Given the description of an element on the screen output the (x, y) to click on. 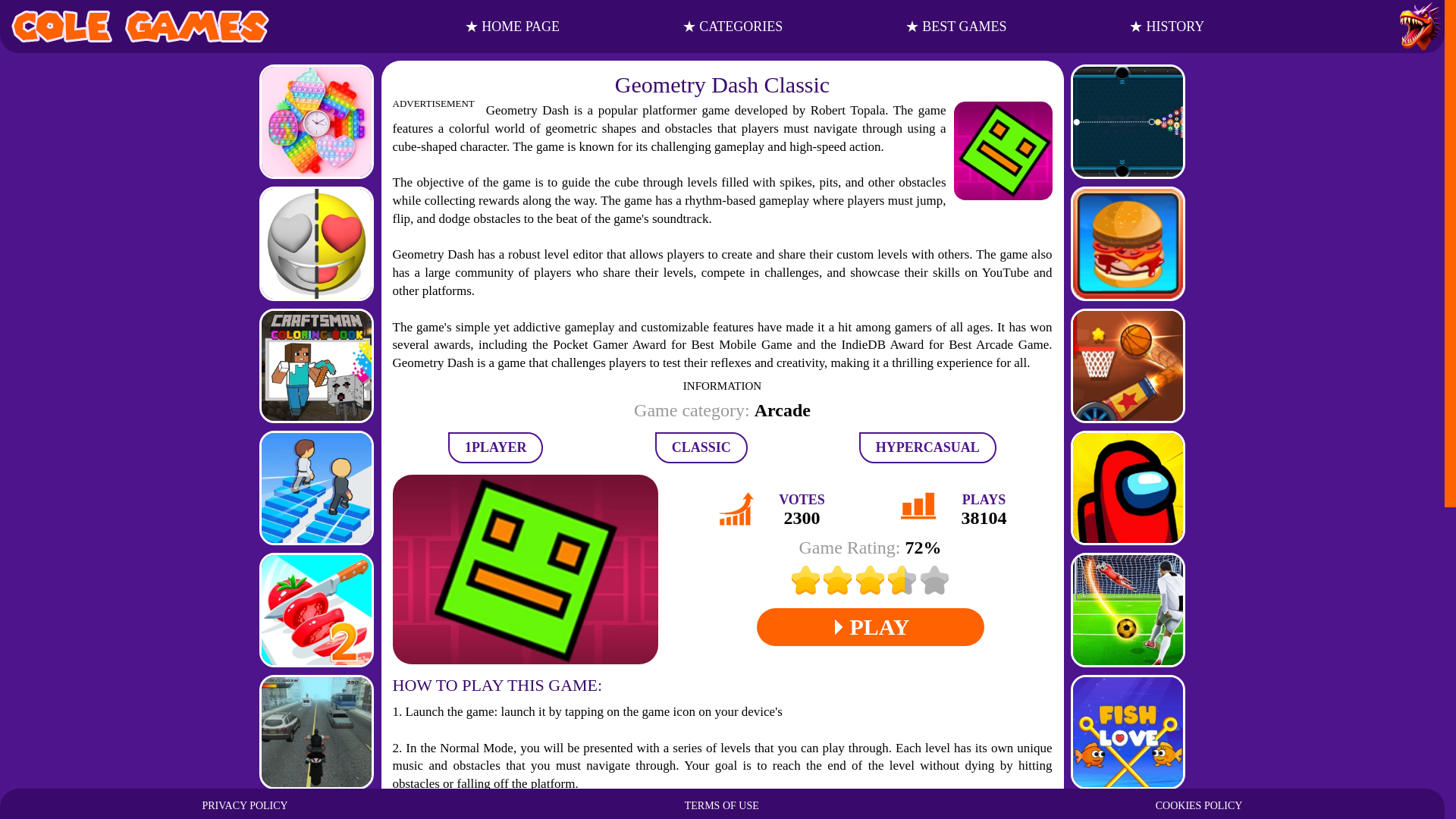
PRIVACY POLICY (244, 805)
1PLAYER (495, 447)
HYPERCASUAL (927, 447)
CLASSIC (701, 447)
TERMS OF USE (721, 805)
PLAY (870, 627)
